Given the description of an element on the screen output the (x, y) to click on. 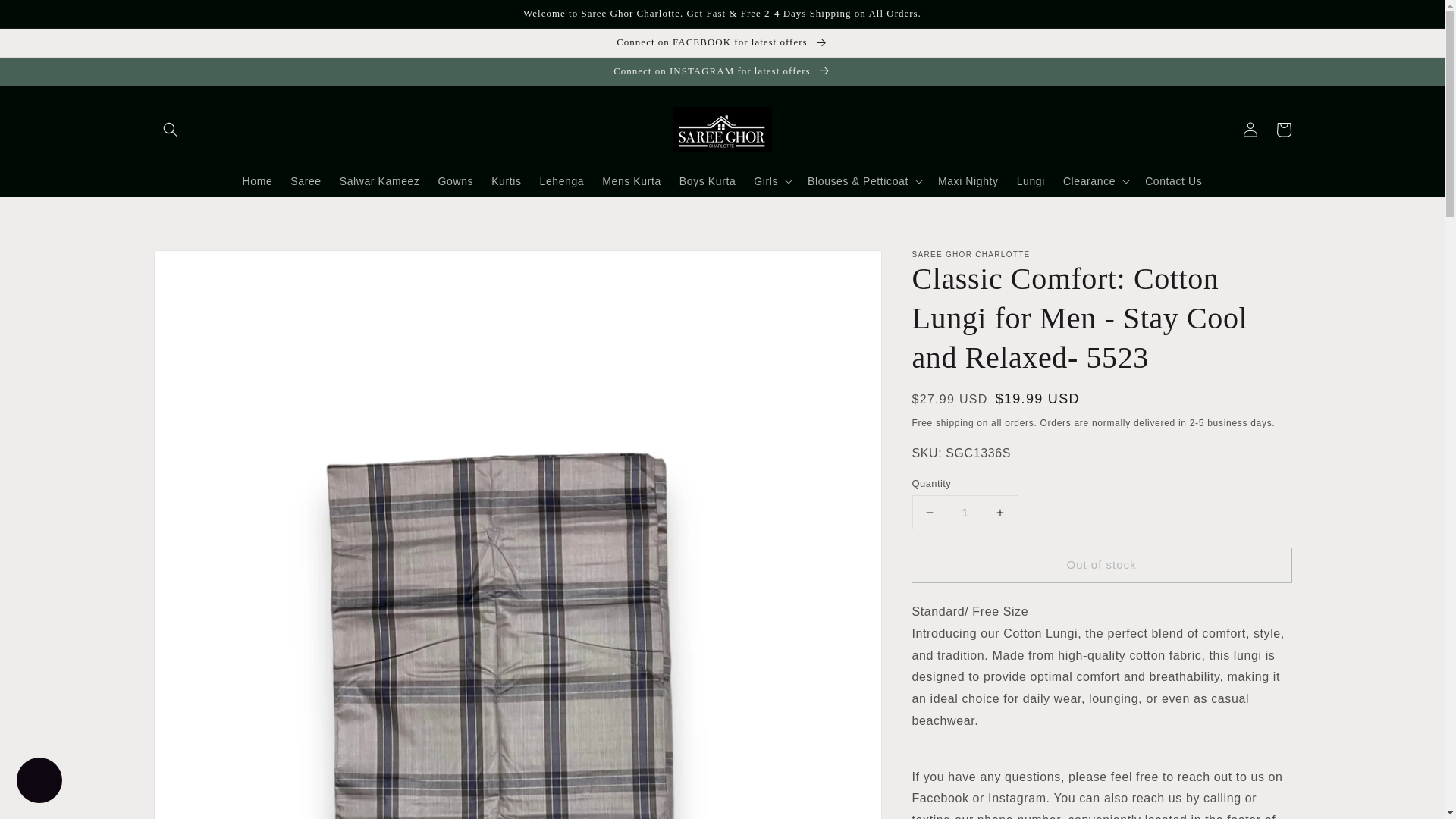
1 (964, 512)
Kurtis (505, 181)
Skip to content (45, 16)
Gowns (456, 181)
Saree (305, 181)
Home (257, 181)
Shopify online store chat (38, 781)
Mens Kurta (630, 181)
Lehenga (562, 181)
Boys Kurta (706, 181)
Salwar Kameez (379, 181)
